Given the description of an element on the screen output the (x, y) to click on. 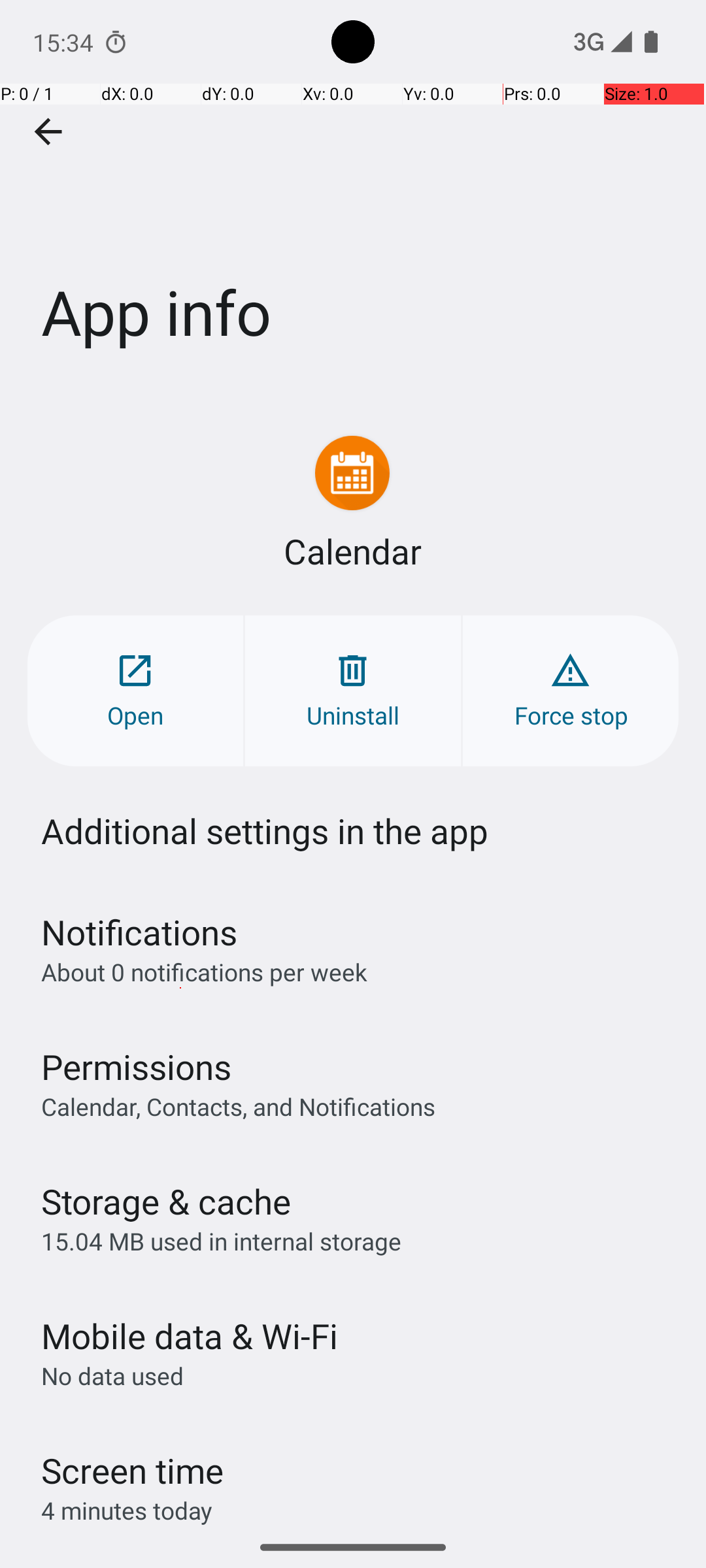
Additional settings in the app Element type: android.widget.TextView (264, 830)
Calendar, Contacts, and Notifications Element type: android.widget.TextView (238, 1106)
15.04 MB used in internal storage Element type: android.widget.TextView (221, 1240)
4 minutes today Element type: android.widget.TextView (127, 1509)
